Given the description of an element on the screen output the (x, y) to click on. 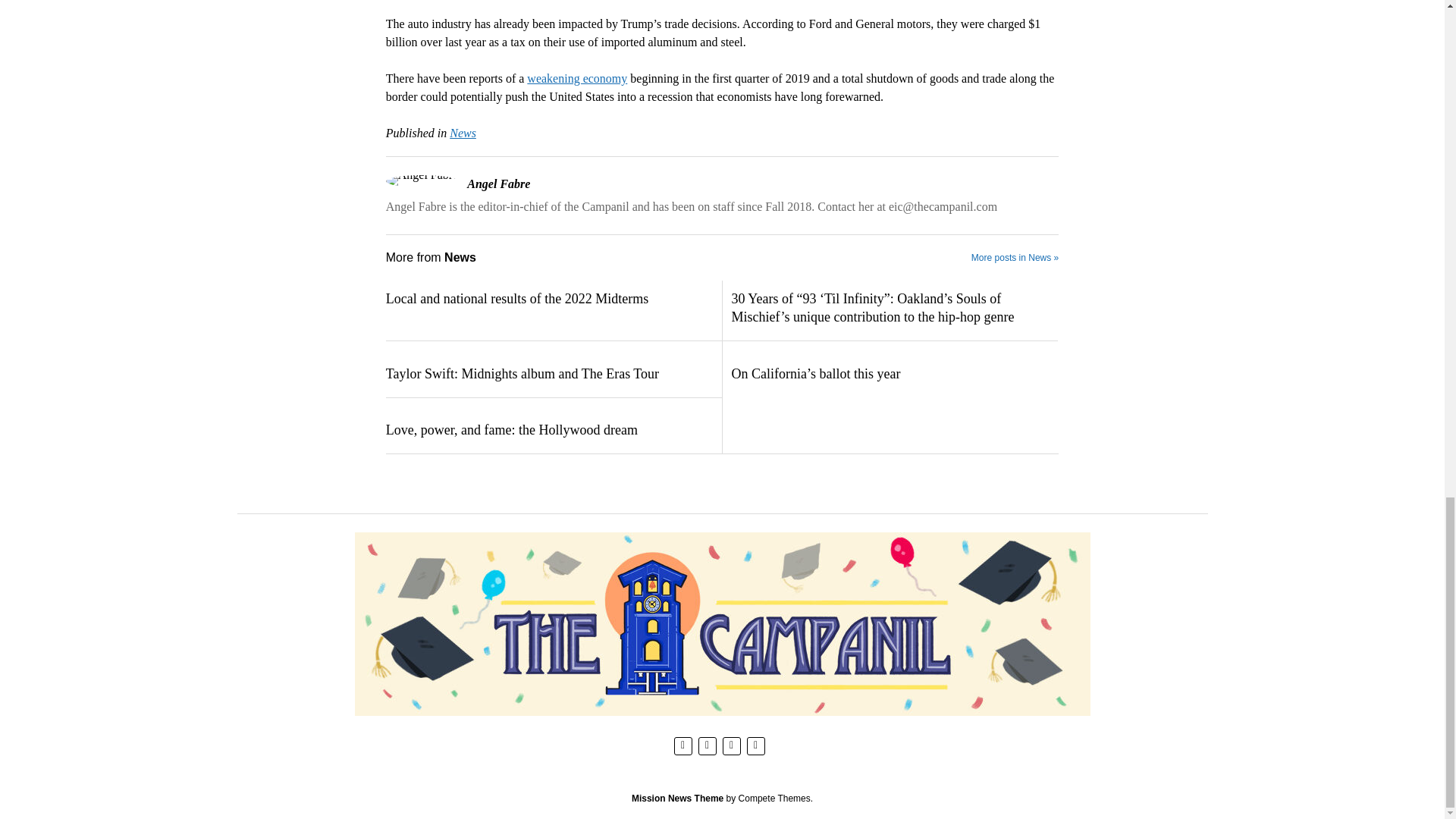
View all posts in News (462, 132)
